Given the description of an element on the screen output the (x, y) to click on. 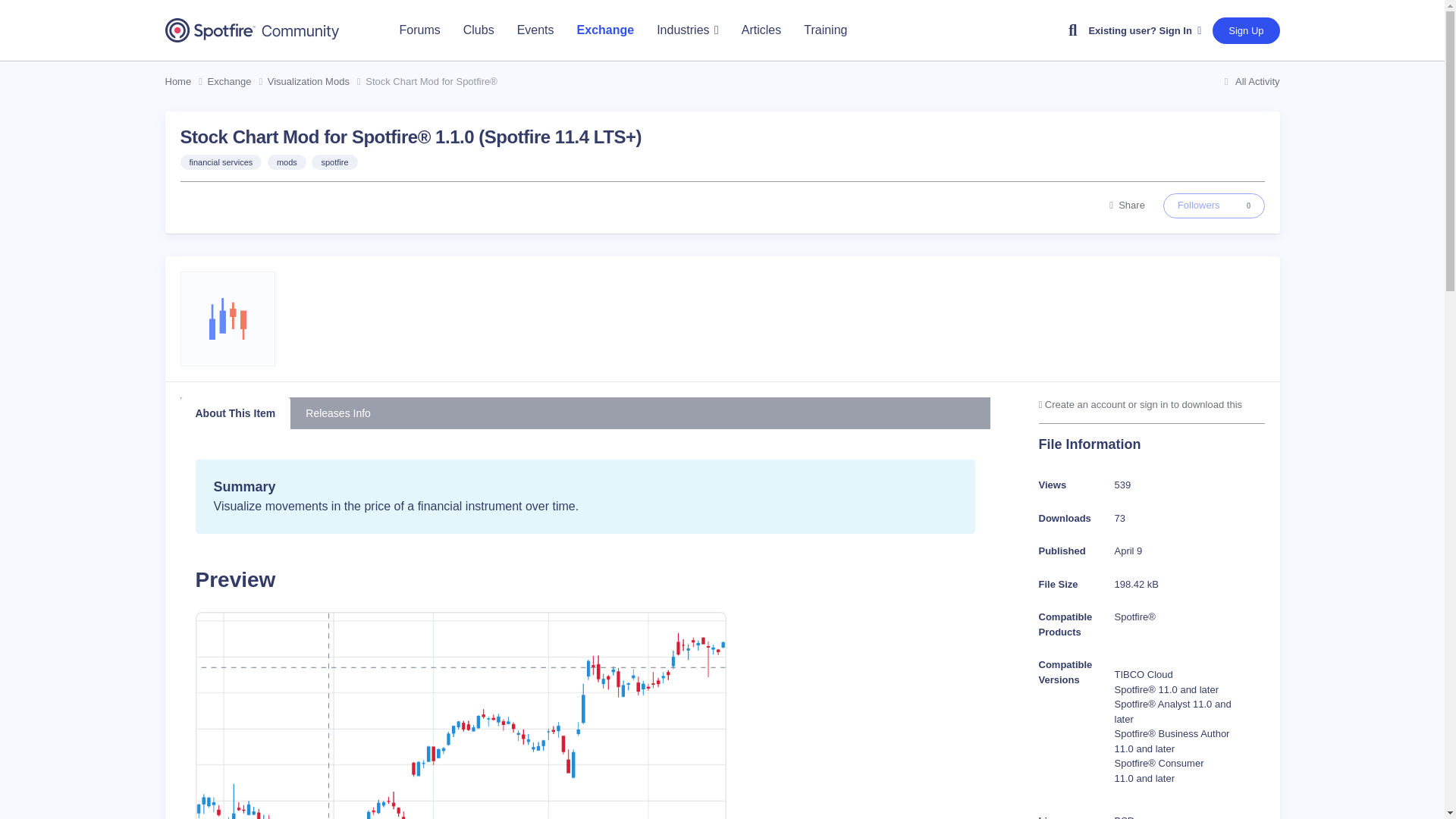
Home (186, 81)
Forums (419, 30)
Industries (687, 30)
Find other content tagged with 'spotfire' (333, 161)
Find other content tagged with 'financial services' (221, 161)
Articles (761, 30)
spotfire (1214, 205)
Exchange (333, 161)
Sign in to follow this (606, 30)
Training (1214, 205)
Existing user? Sign In   (825, 30)
Visualization Mods (1144, 30)
 Share (316, 81)
Find other content tagged with 'mods' (1127, 205)
